Given the description of an element on the screen output the (x, y) to click on. 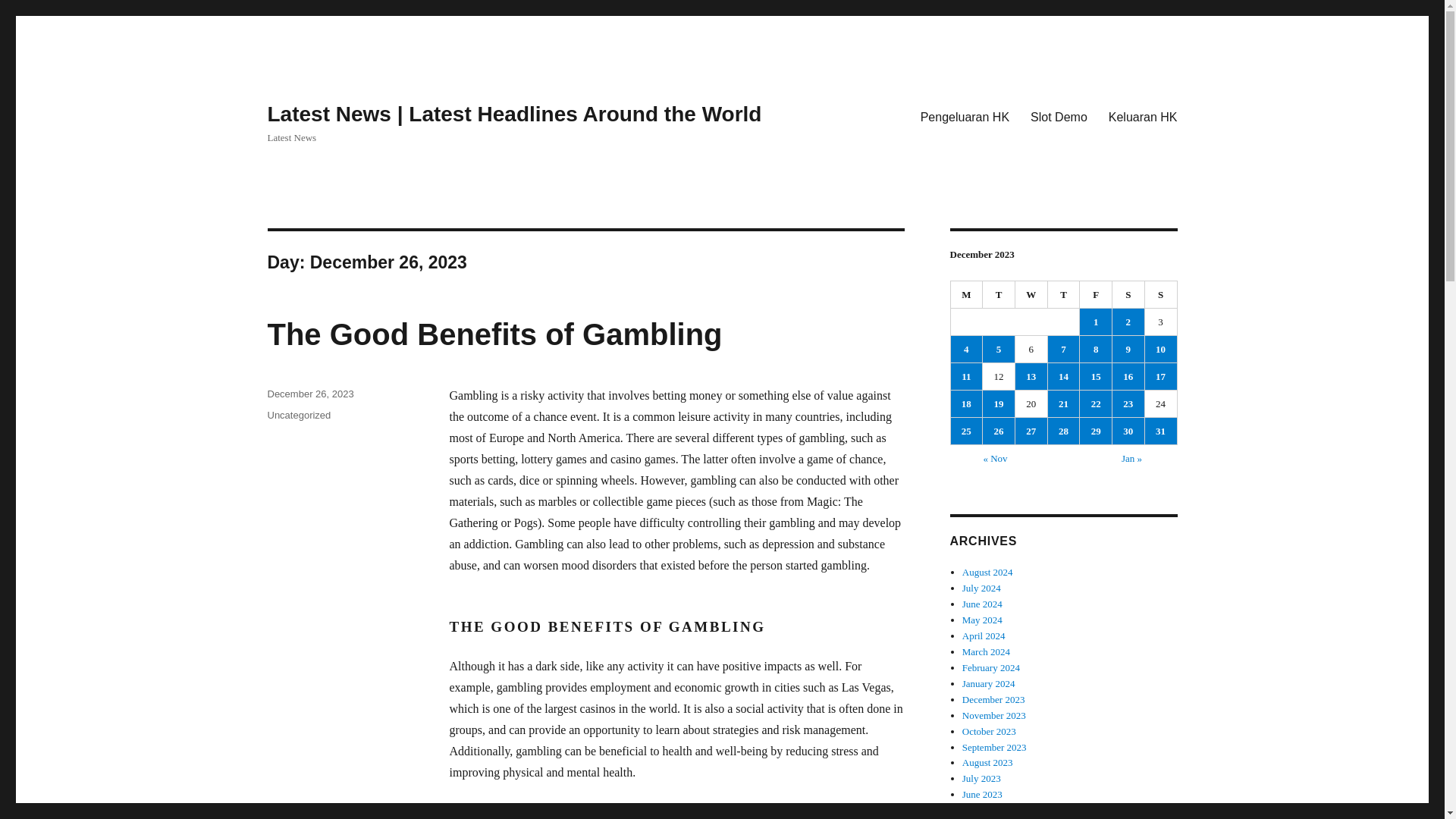
Thursday (1064, 294)
9 (1128, 348)
Uncategorized (298, 414)
Wednesday (1031, 294)
Sunday (1160, 294)
4 (966, 348)
10 (1160, 348)
22 (1096, 403)
1 (1096, 321)
30 (1128, 430)
7 (1064, 348)
31 (1160, 430)
Monday (967, 294)
29 (1096, 430)
26 (998, 430)
